Given the description of an element on the screen output the (x, y) to click on. 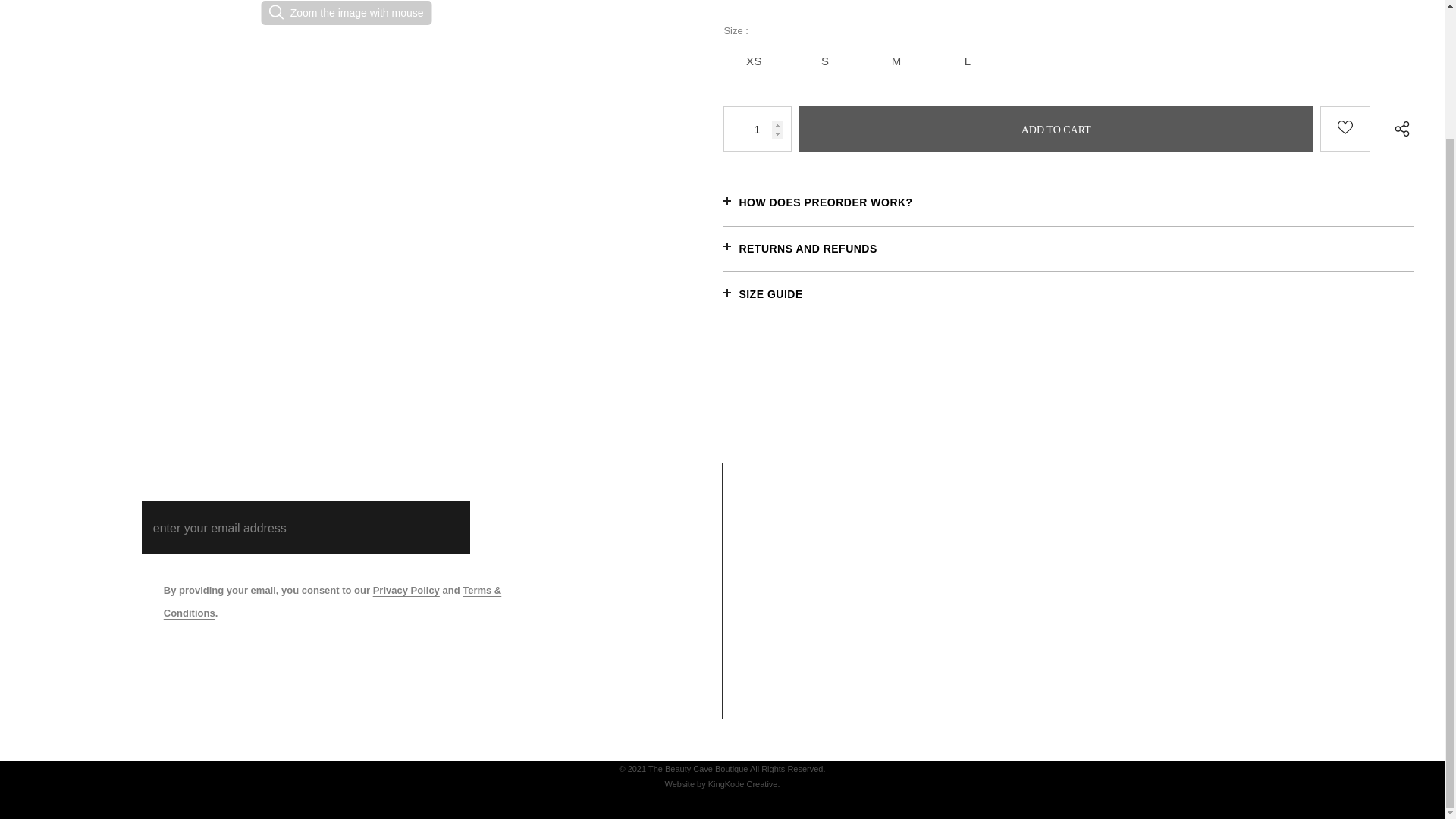
Submit (526, 527)
1 (757, 128)
Add to cart (1056, 128)
